Given the description of an element on the screen output the (x, y) to click on. 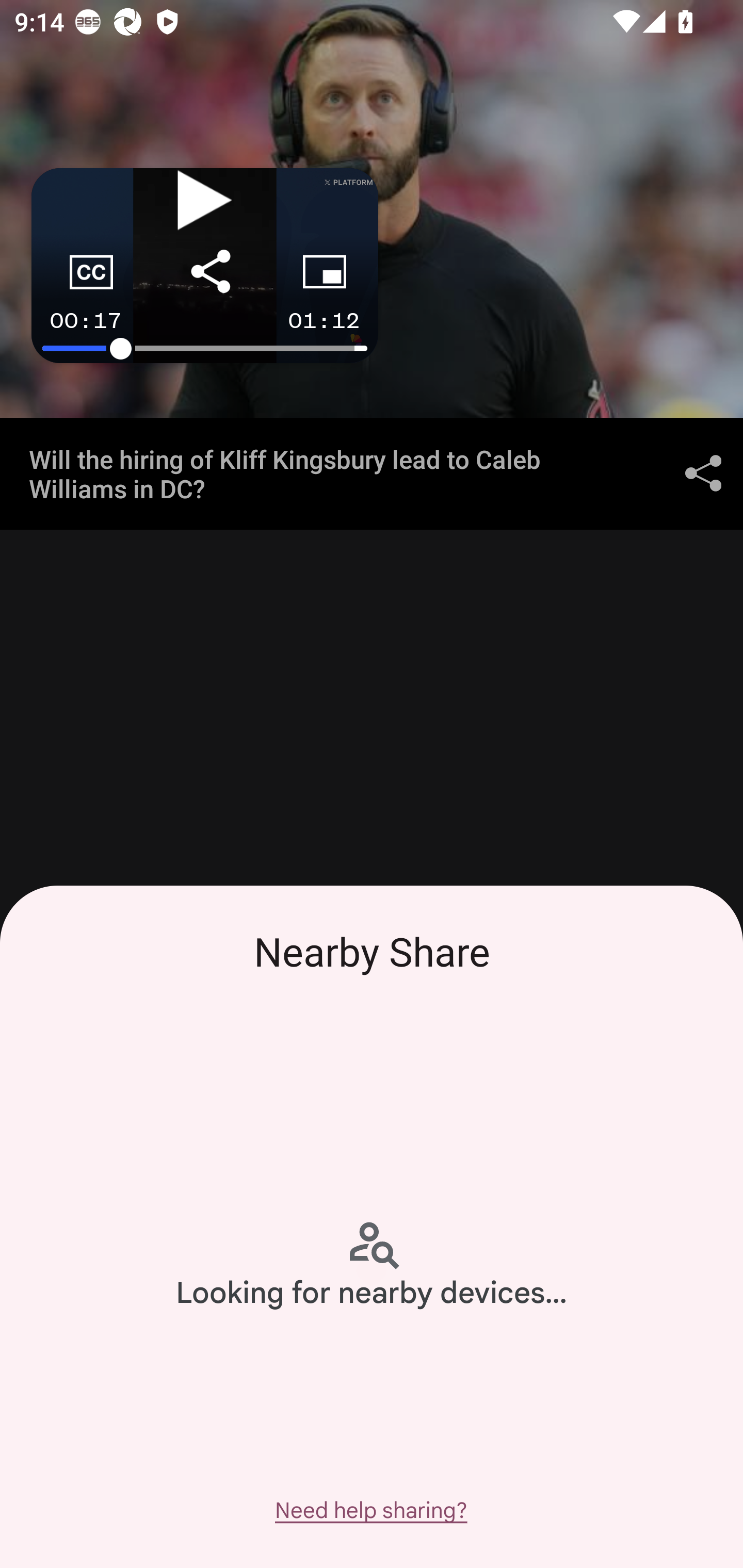
Need help sharing? (370, 1510)
